Given the description of an element on the screen output the (x, y) to click on. 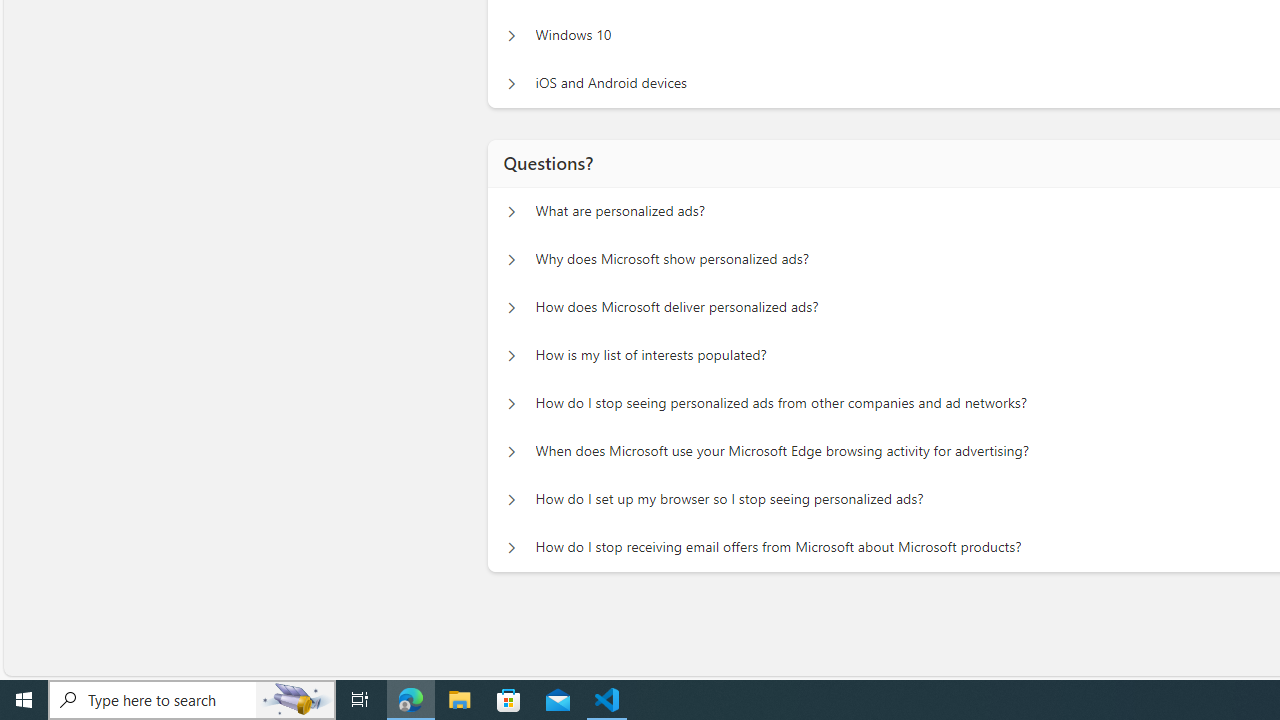
Your Privacy Choices Opt-Out Icon Your Privacy Choices (532, 643)
Your Privacy Choices Opt-Out Icon (470, 645)
